Given the description of an element on the screen output the (x, y) to click on. 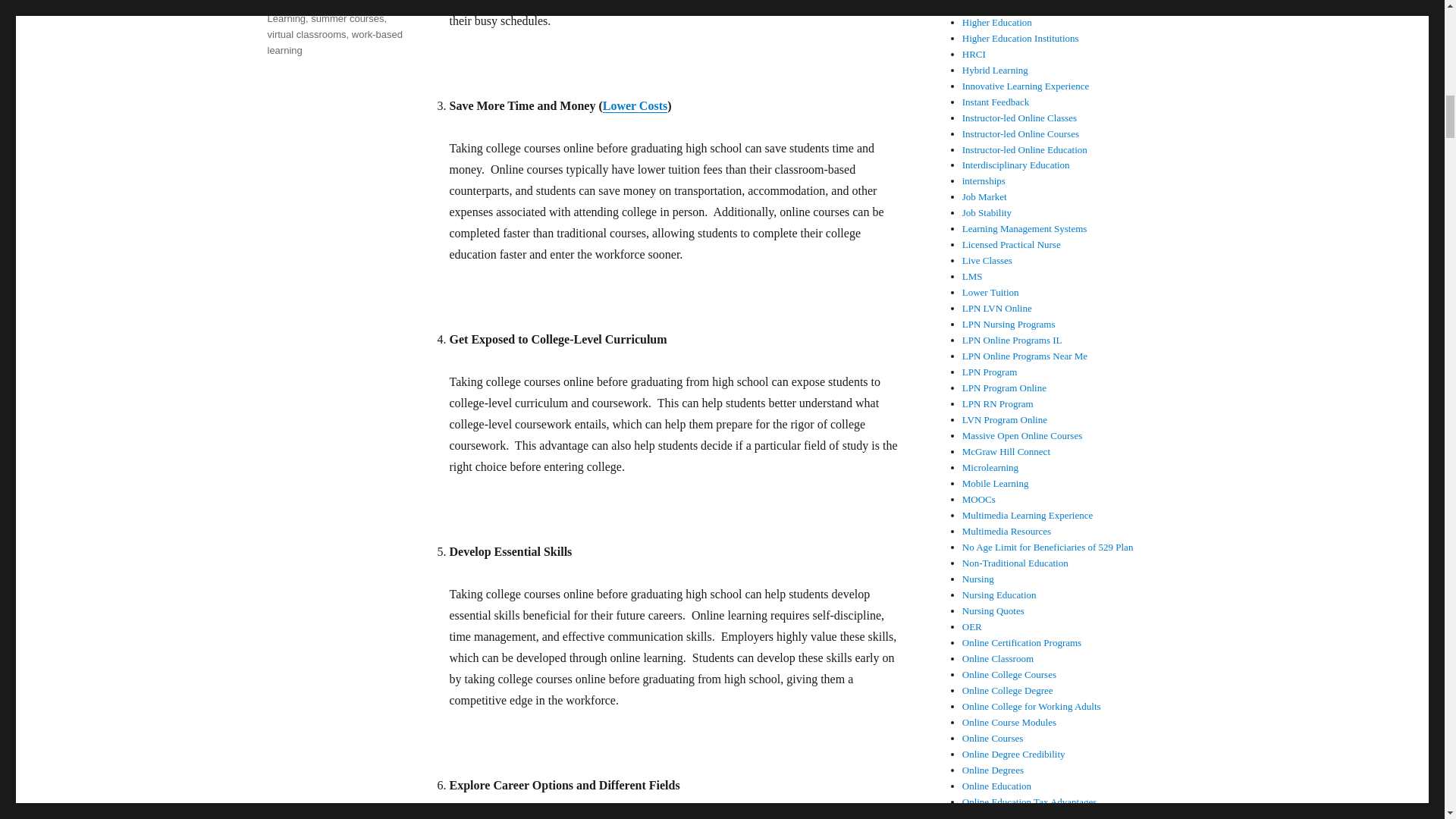
Lower Costs (634, 105)
